Given the description of an element on the screen output the (x, y) to click on. 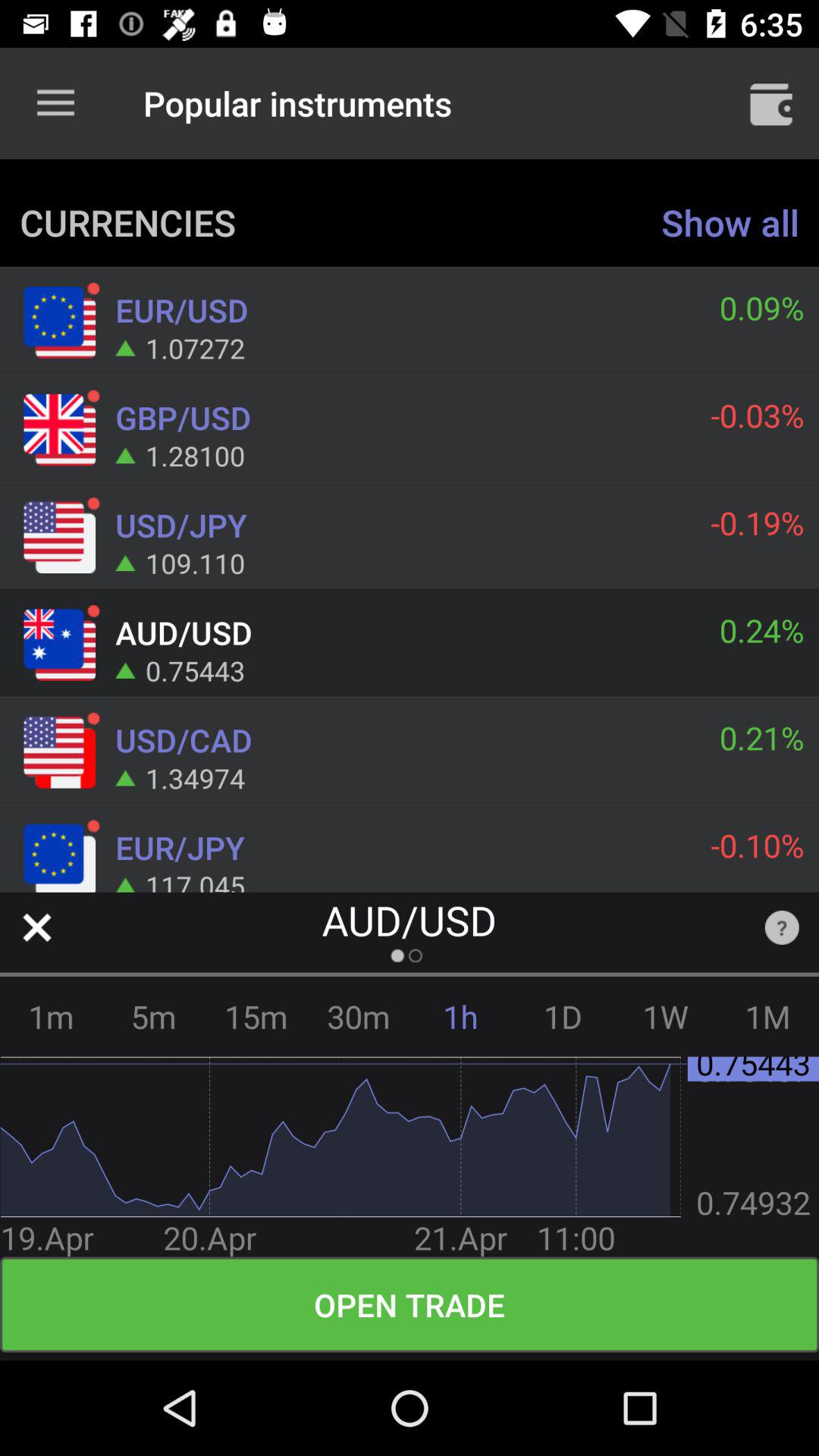
press the app next to popular instruments item (771, 103)
